Given the description of an element on the screen output the (x, y) to click on. 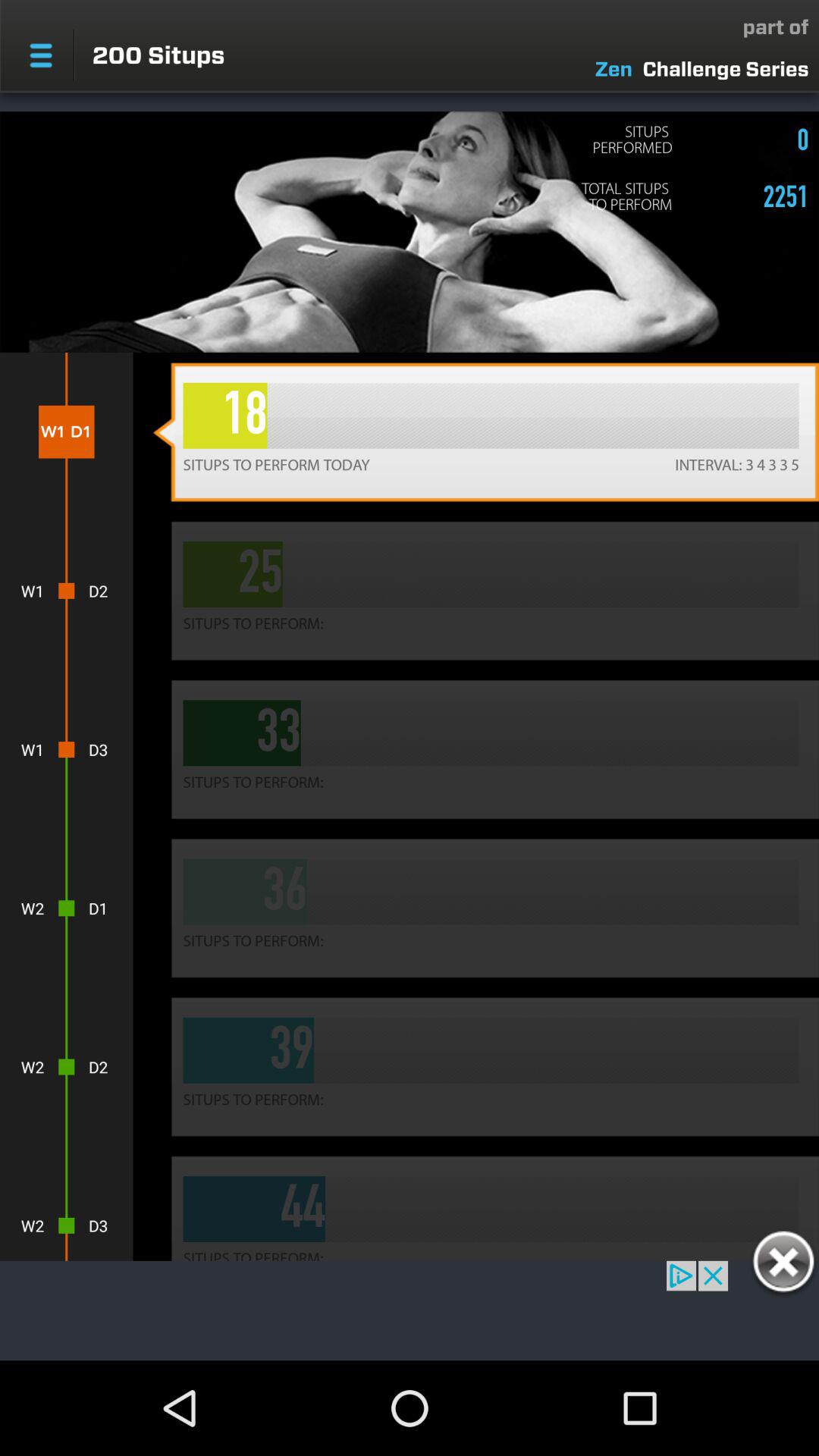
menu (40, 55)
